Given the description of an element on the screen output the (x, y) to click on. 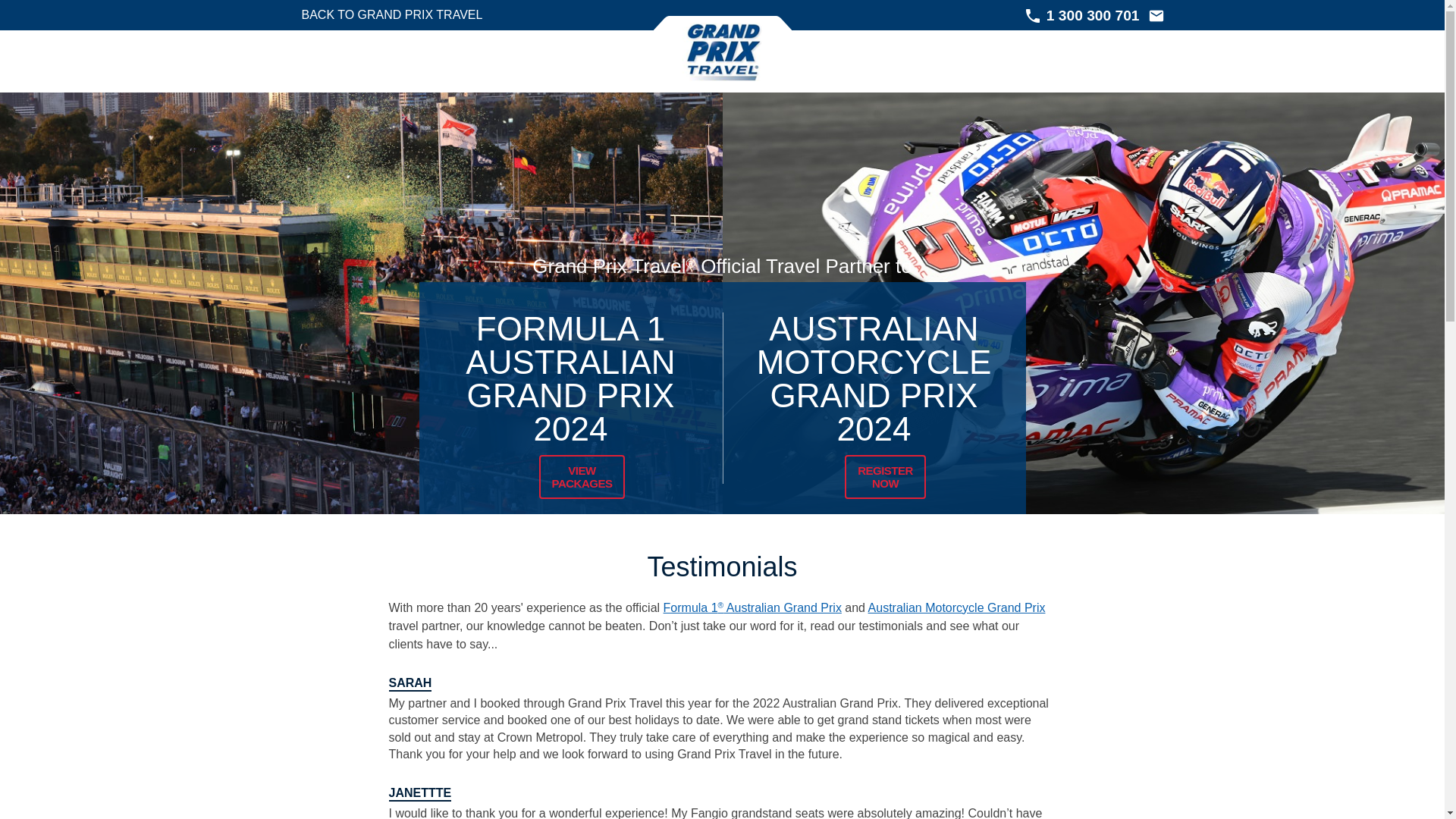
REGISTER
NOW Element type: text (884, 477)
BACK TO GRAND PRIX TRAVEL Element type: text (377, 14)
Australian Motorcycle Grand Prix Element type: text (956, 607)
VIEW
PACKAGES Element type: text (582, 477)
1 300 300 701 Element type: text (1075, 15)
Email Element type: text (1156, 15)
